Given the description of an element on the screen output the (x, y) to click on. 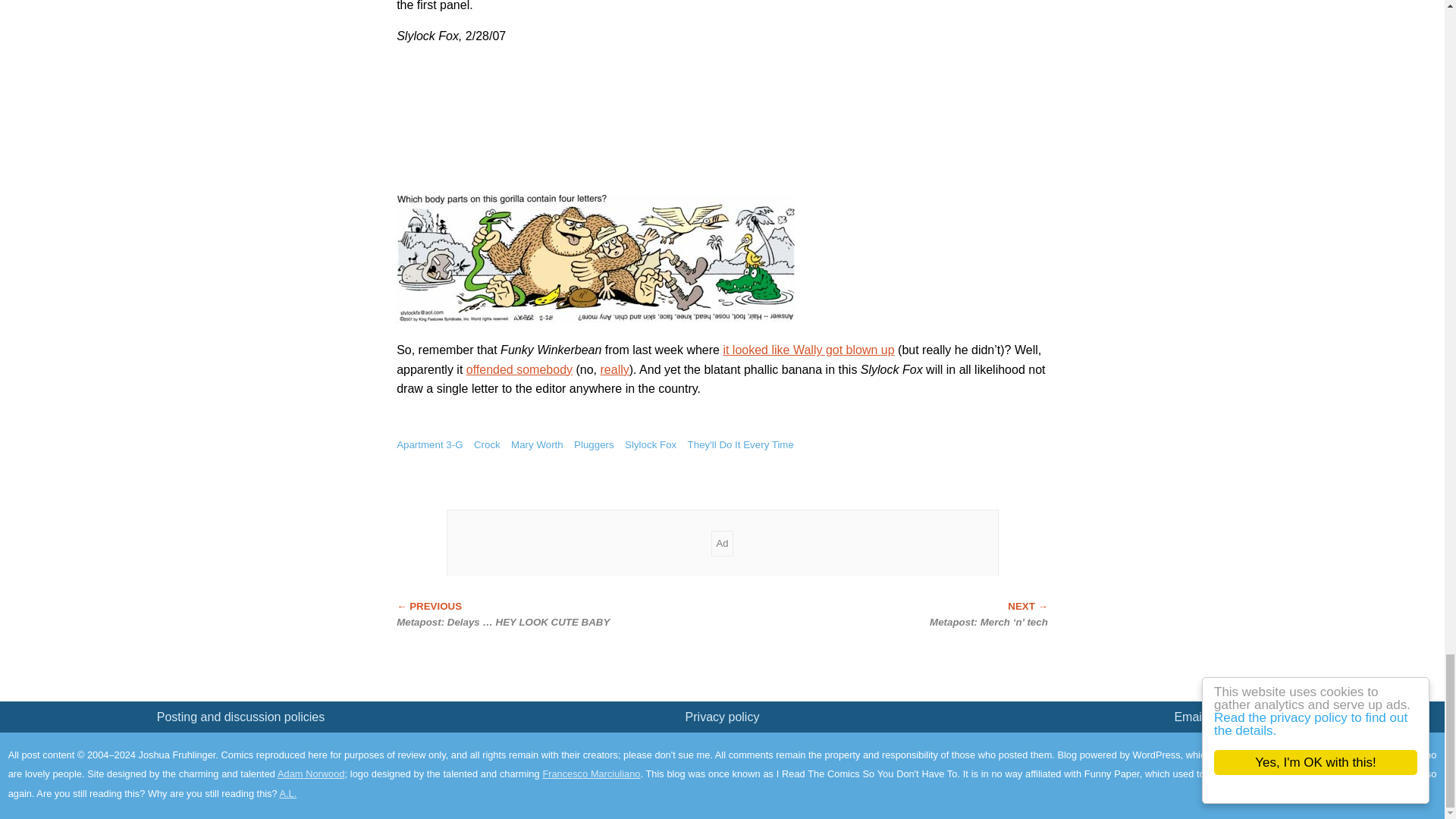
really (613, 369)
Slylock Fox (650, 444)
Crock (487, 444)
offended somebody (518, 369)
Privacy policy (722, 716)
They'll Do It Every Time (740, 444)
Pluggers (593, 444)
Mary Worth (537, 444)
Email Josh (1203, 716)
it looked like Wally got blown up (807, 349)
Apartment 3-G (429, 444)
Posting and discussion policies (240, 716)
